Given the description of an element on the screen output the (x, y) to click on. 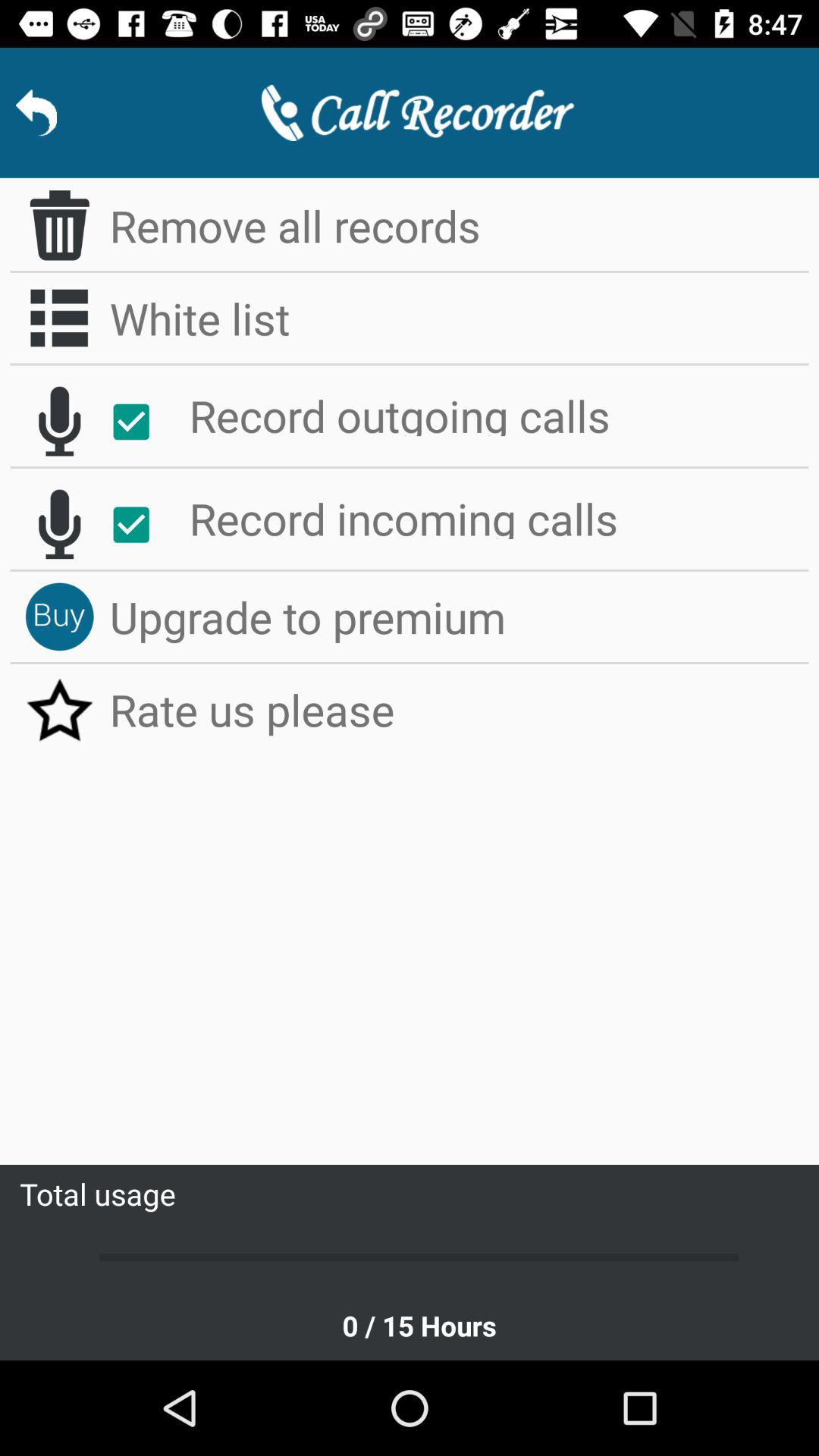
uncheck button (139, 421)
